Given the description of an element on the screen output the (x, y) to click on. 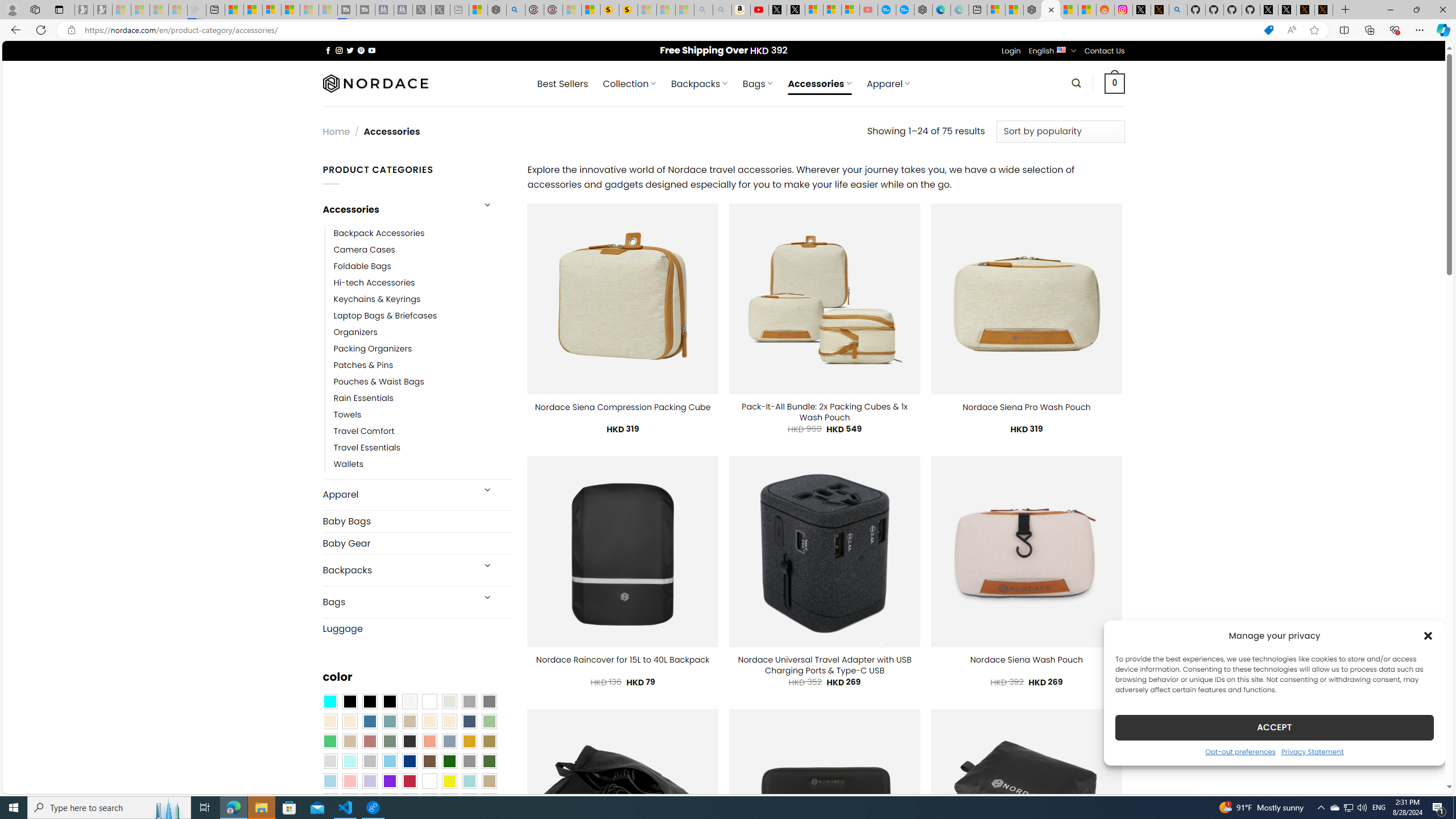
Baby Bags (416, 521)
Khaki (488, 780)
Sky Blue (389, 761)
Pearly White (408, 701)
Opt-out preferences (1240, 750)
Privacy Statement (1312, 750)
Mint (349, 761)
Travel Essentials (366, 448)
Backpacks (397, 570)
Gold (468, 741)
